Given the description of an element on the screen output the (x, y) to click on. 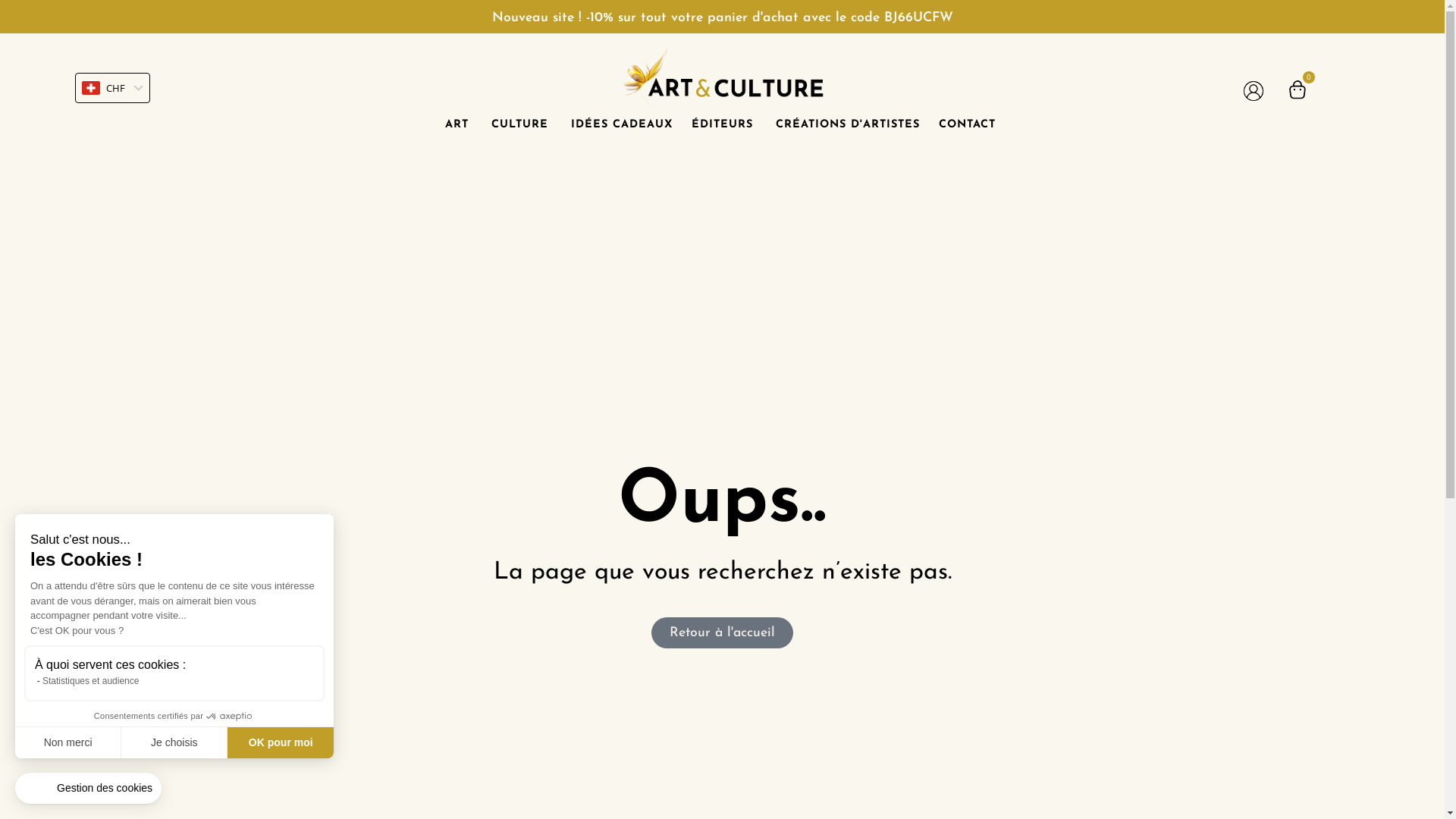
CONTACT Element type: text (966, 124)
